Given the description of an element on the screen output the (x, y) to click on. 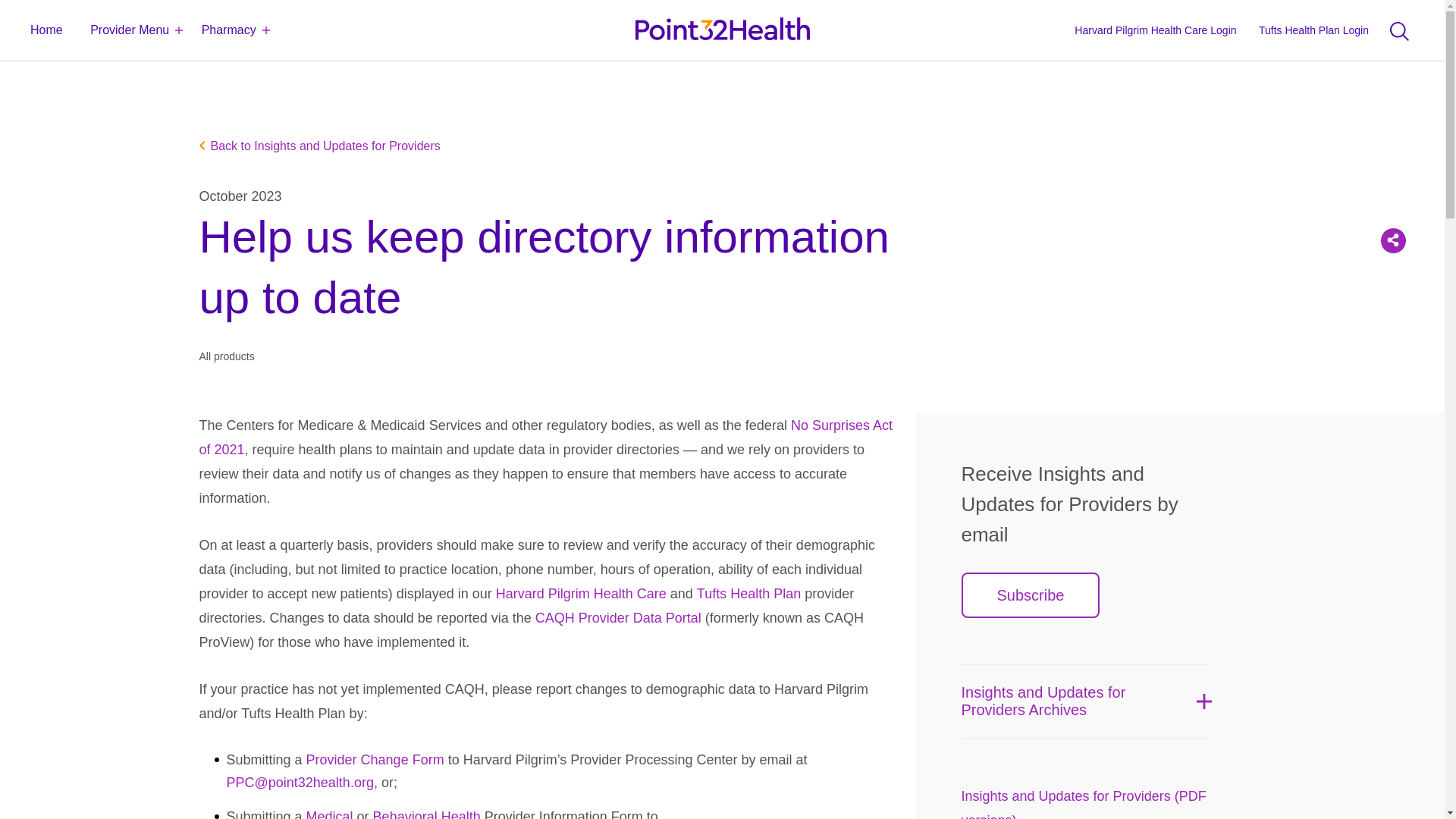
Tufts Health Plan Login (1315, 30)
Provider Menu (129, 30)
Share This Article (1393, 240)
Home (42, 30)
Pharmacy (227, 30)
Point32Health Provider (721, 30)
Harvard Pilgrim Health Care Login (1157, 30)
